Given the description of an element on the screen output the (x, y) to click on. 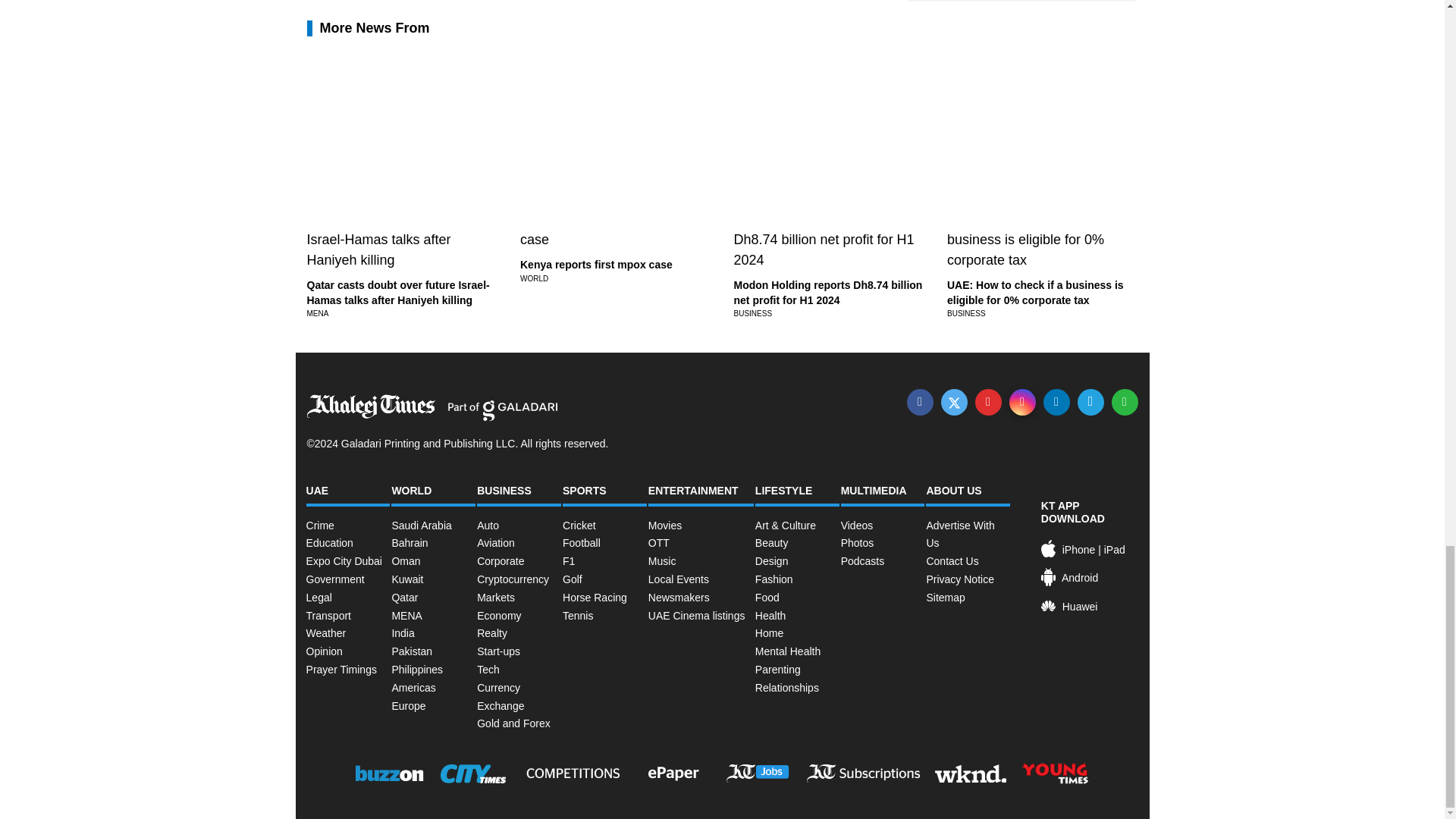
Kenya reports first mpox case (595, 264)
Modon Holding reports Dh8.74 billion net profit for H1 2024 (828, 292)
